Given the description of an element on the screen output the (x, y) to click on. 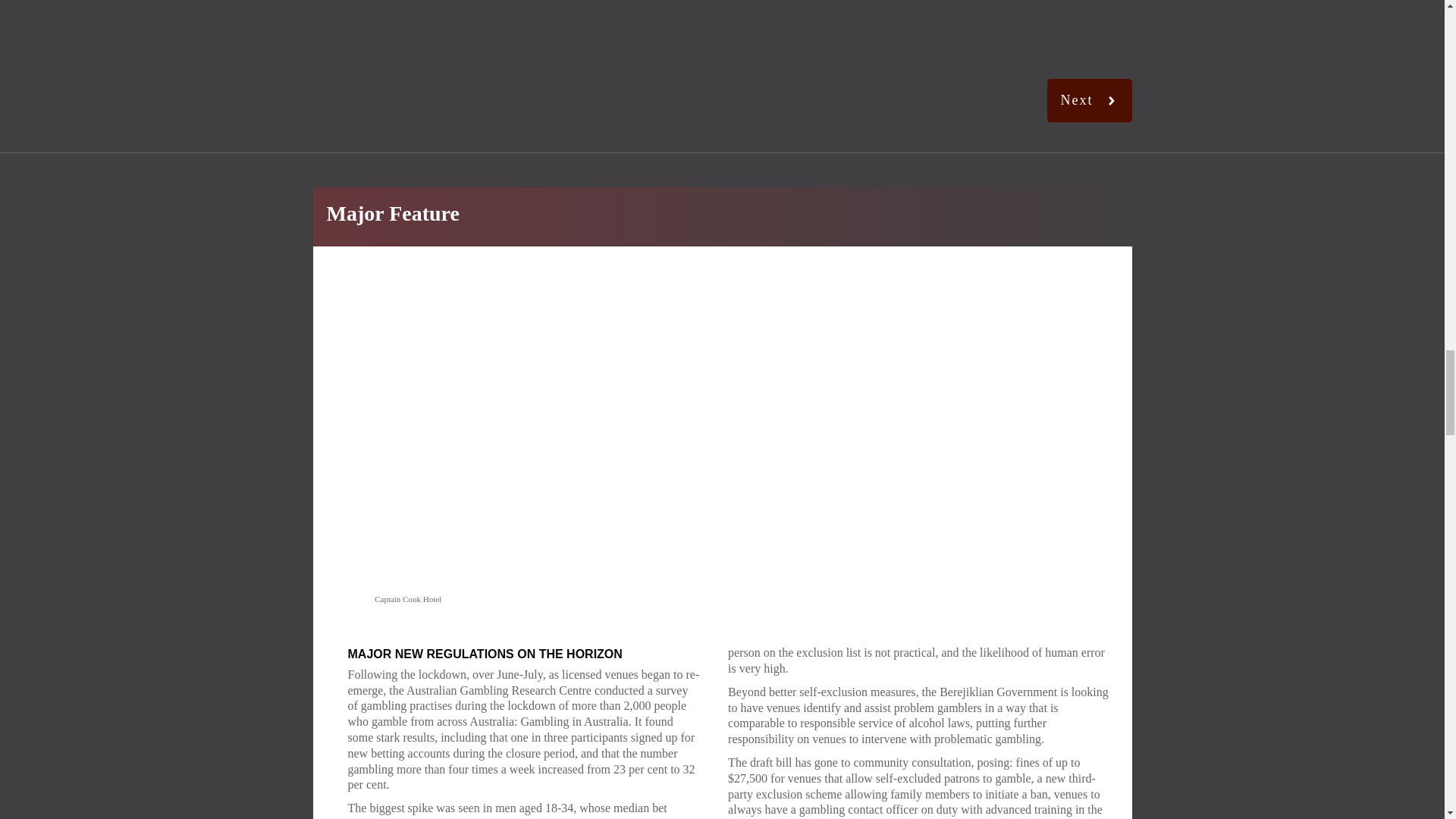
Print (722, 31)
Next (1088, 100)
Next (1088, 100)
